Given the description of an element on the screen output the (x, y) to click on. 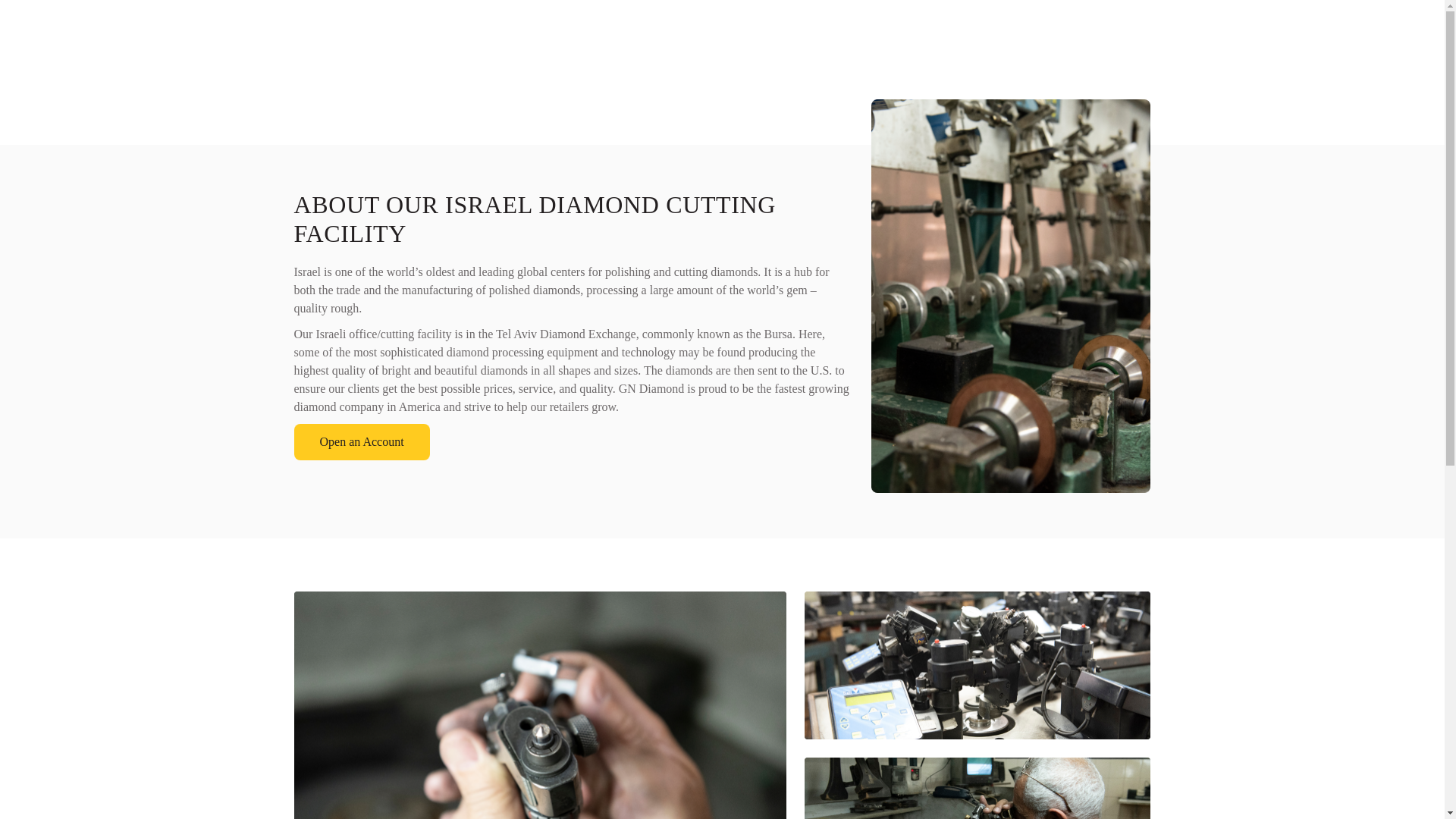
Open an Account (361, 442)
